Given the description of an element on the screen output the (x, y) to click on. 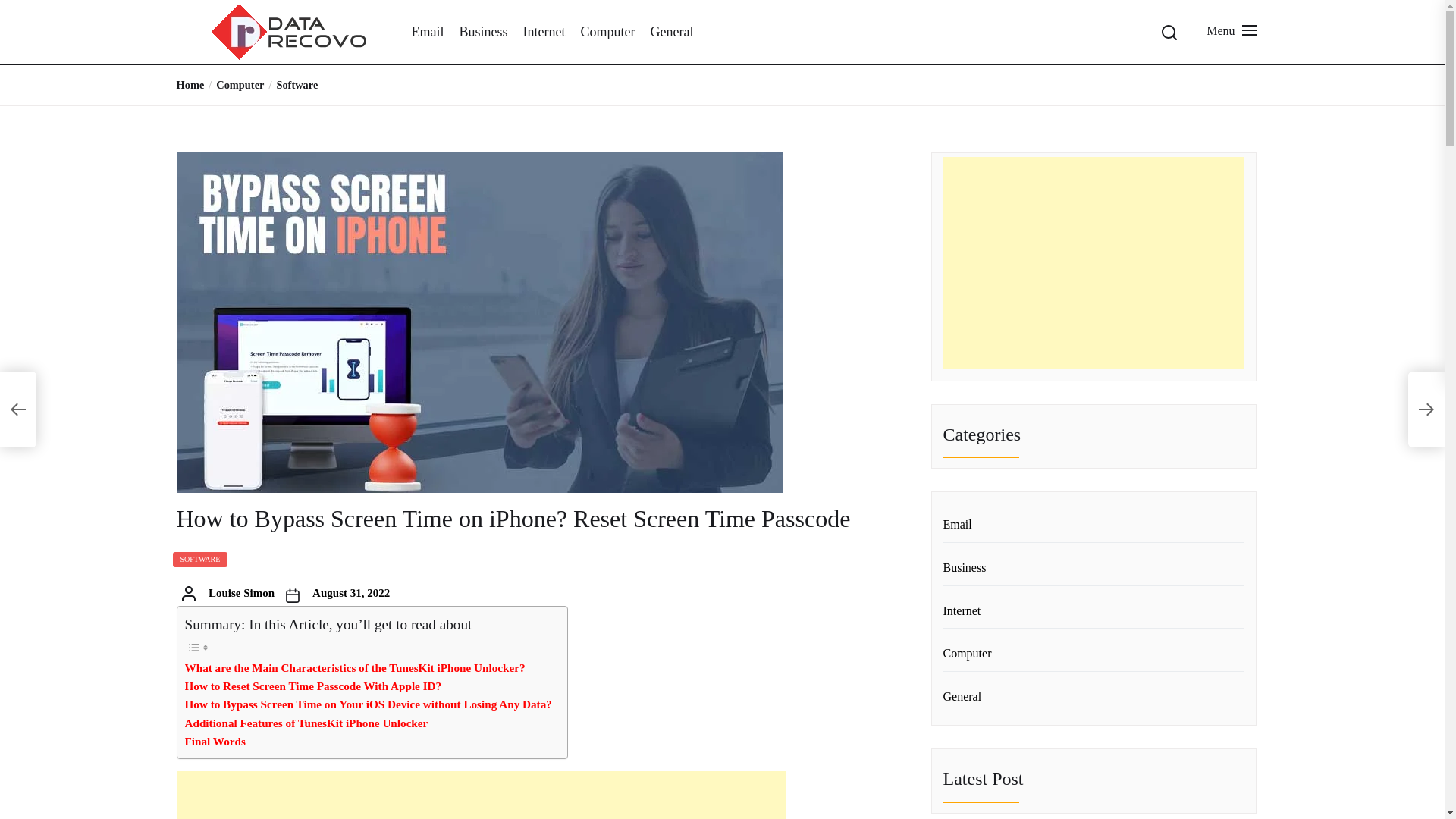
Advertisement (480, 795)
Menu (1229, 30)
August 31, 2022 (351, 592)
Email (427, 32)
Computer (606, 32)
Business (484, 32)
Louise Simon (241, 592)
Home (189, 84)
